Given the description of an element on the screen output the (x, y) to click on. 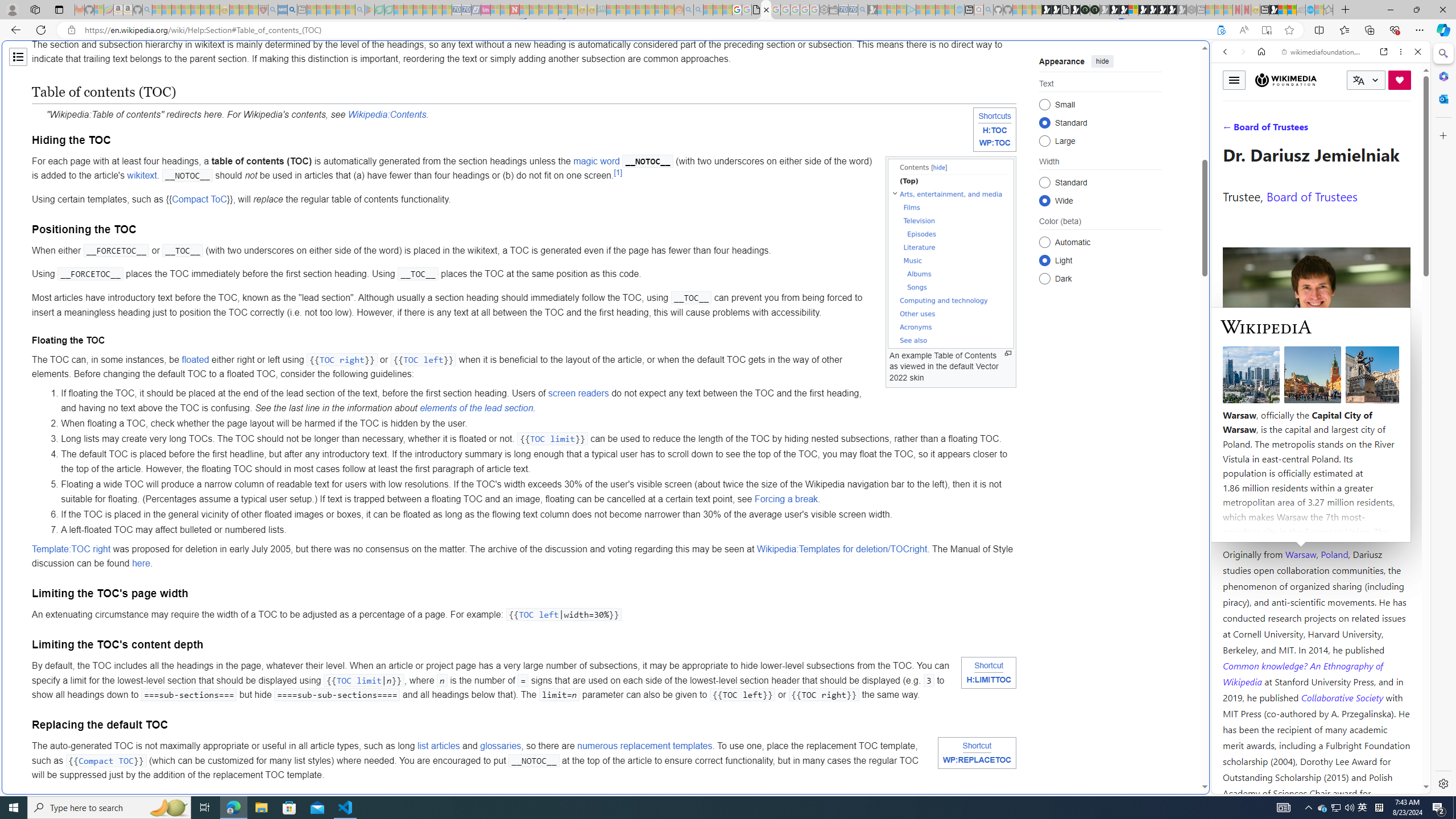
hide (1102, 60)
WP:REPLACETOC (976, 760)
WP:REPLACETOC (976, 759)
DITOGAMES AG Imprint - Sleeping (601, 9)
Search Filter, VIDEOS (1300, 129)
SEARCH TOOLS (1350, 130)
